Given the description of an element on the screen output the (x, y) to click on. 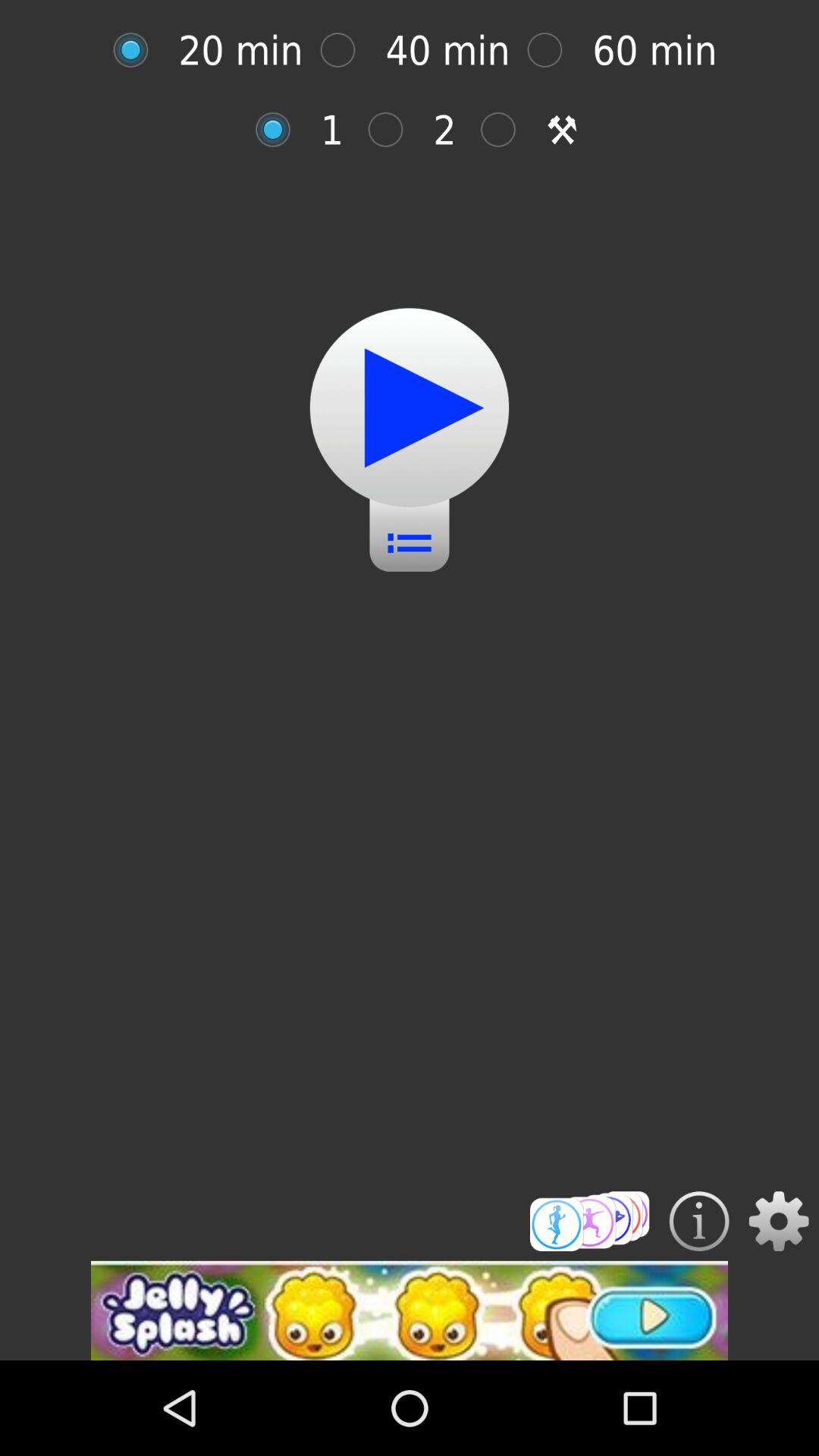
select 40 min (345, 49)
